Given the description of an element on the screen output the (x, y) to click on. 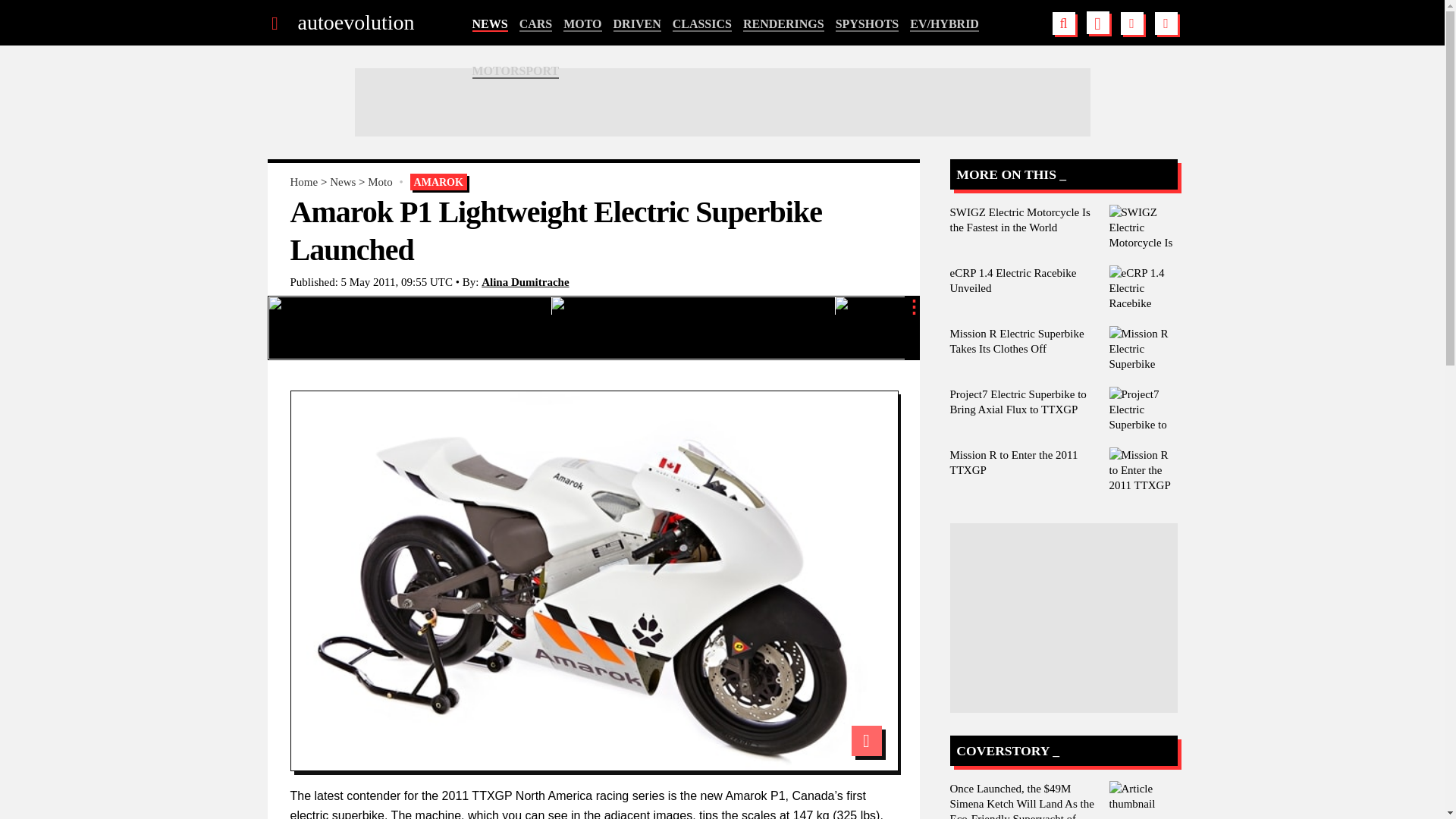
CLASSICS (702, 24)
autoevolution (355, 22)
NEWS (488, 24)
Moto (380, 182)
SPYSHOTS (867, 24)
MOTO (582, 24)
MOTORSPORT (515, 71)
RENDERINGS (783, 24)
autoevolution (355, 22)
News (342, 182)
DRIVEN (636, 24)
Home (303, 182)
CARS (536, 24)
